Given the description of an element on the screen output the (x, y) to click on. 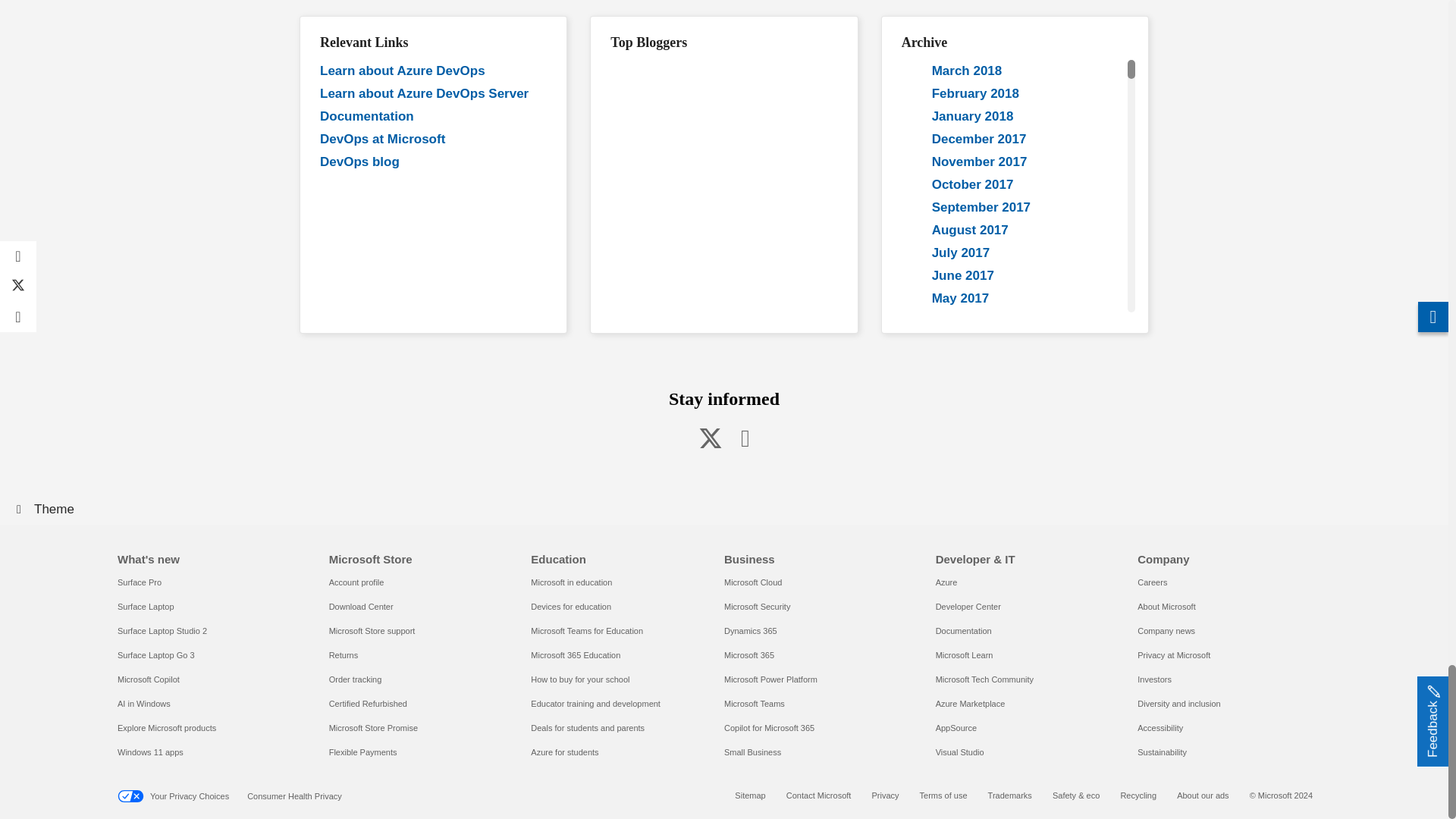
twitter (710, 437)
RSS Feed (745, 437)
